Given the description of an element on the screen output the (x, y) to click on. 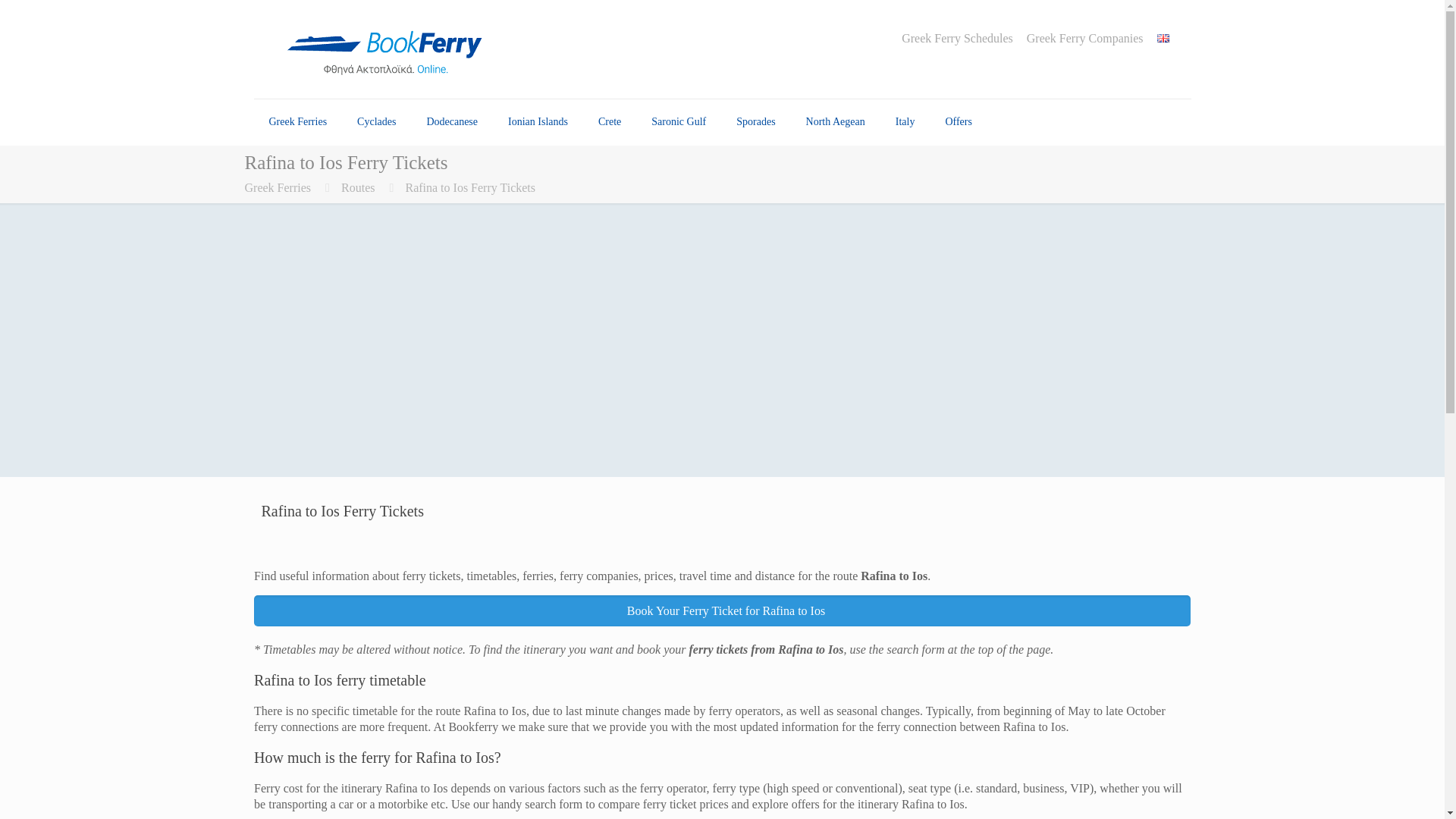
Dodecanese (451, 121)
Greek Ferries (297, 121)
Cyclades (376, 121)
bookferry.gr (389, 49)
Greek Ferries (297, 121)
